Given the description of an element on the screen output the (x, y) to click on. 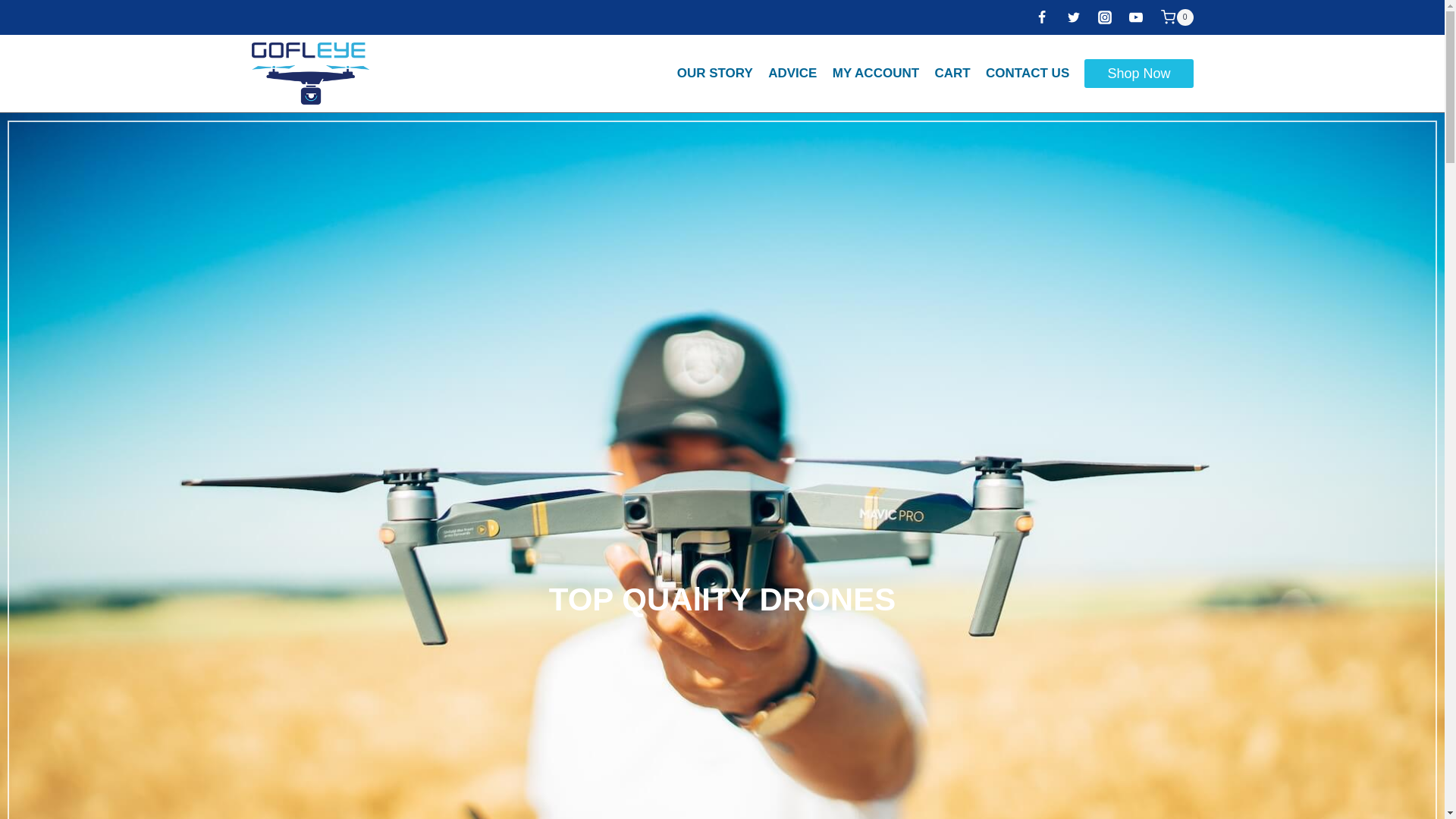
OUR STORY (715, 73)
0 (1176, 17)
CART (952, 73)
Shop Now (1138, 73)
MY ACCOUNT (876, 73)
ADVICE (792, 73)
CONTACT US (1027, 73)
